Given the description of an element on the screen output the (x, y) to click on. 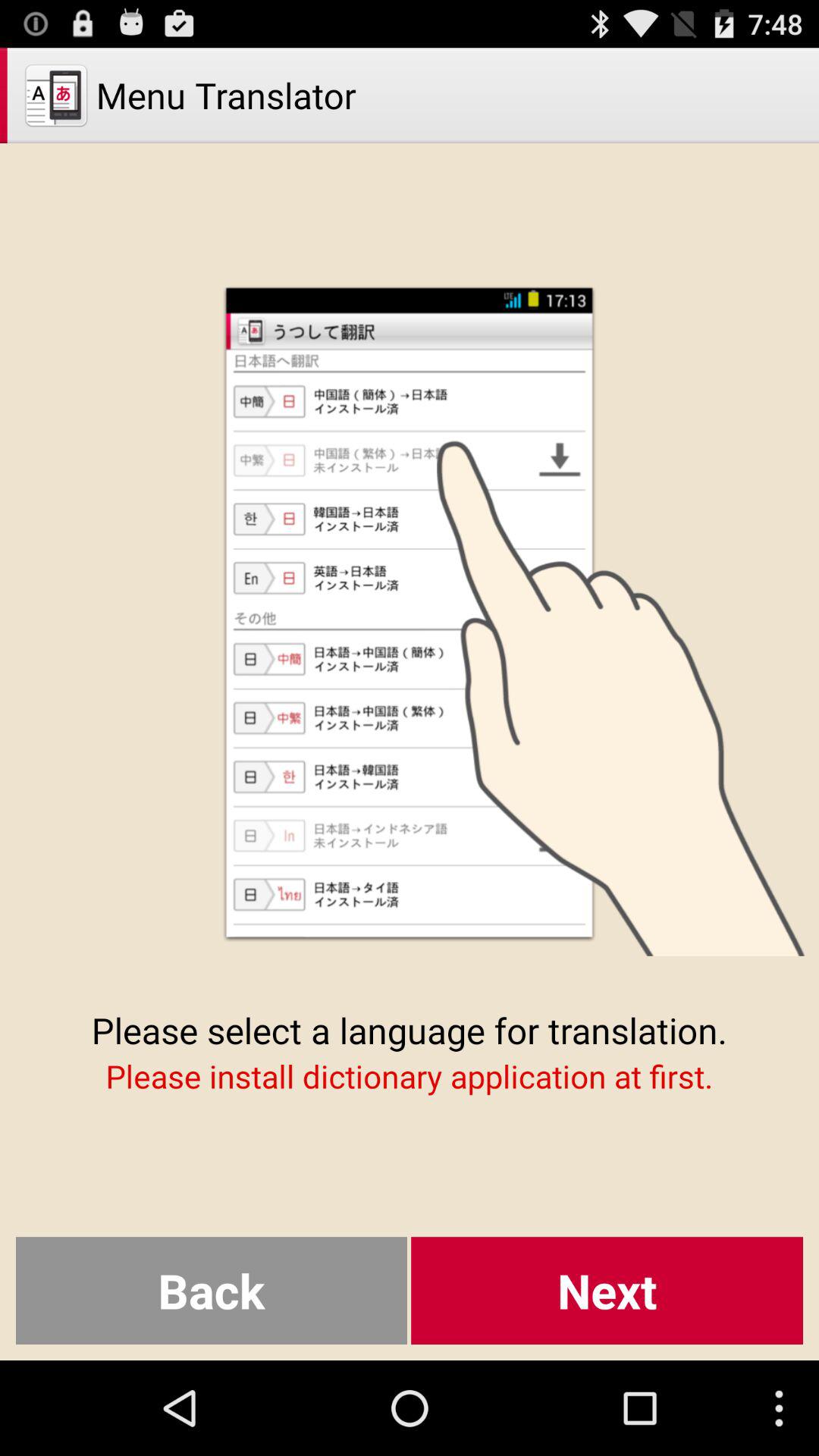
click icon below please install dictionary item (211, 1290)
